Given the description of an element on the screen output the (x, y) to click on. 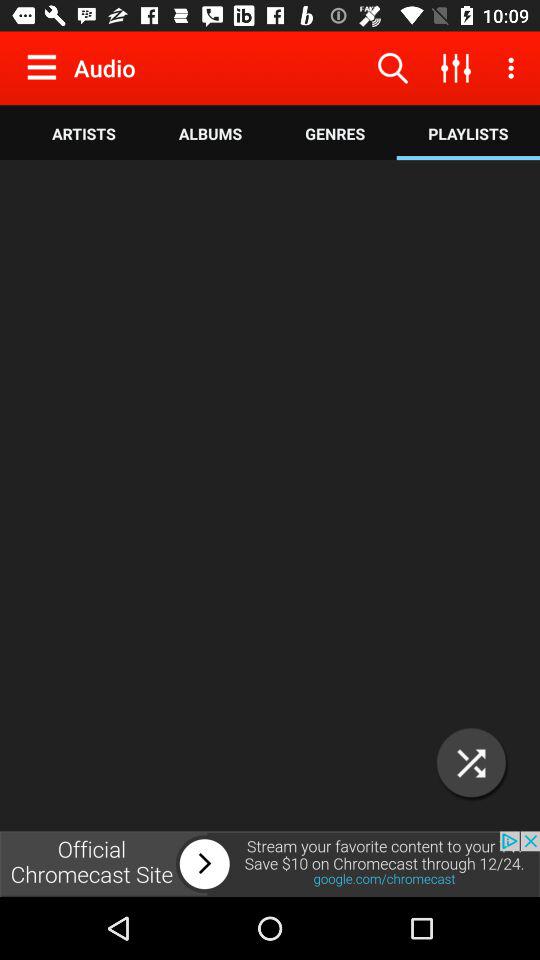
optician (471, 762)
